Given the description of an element on the screen output the (x, y) to click on. 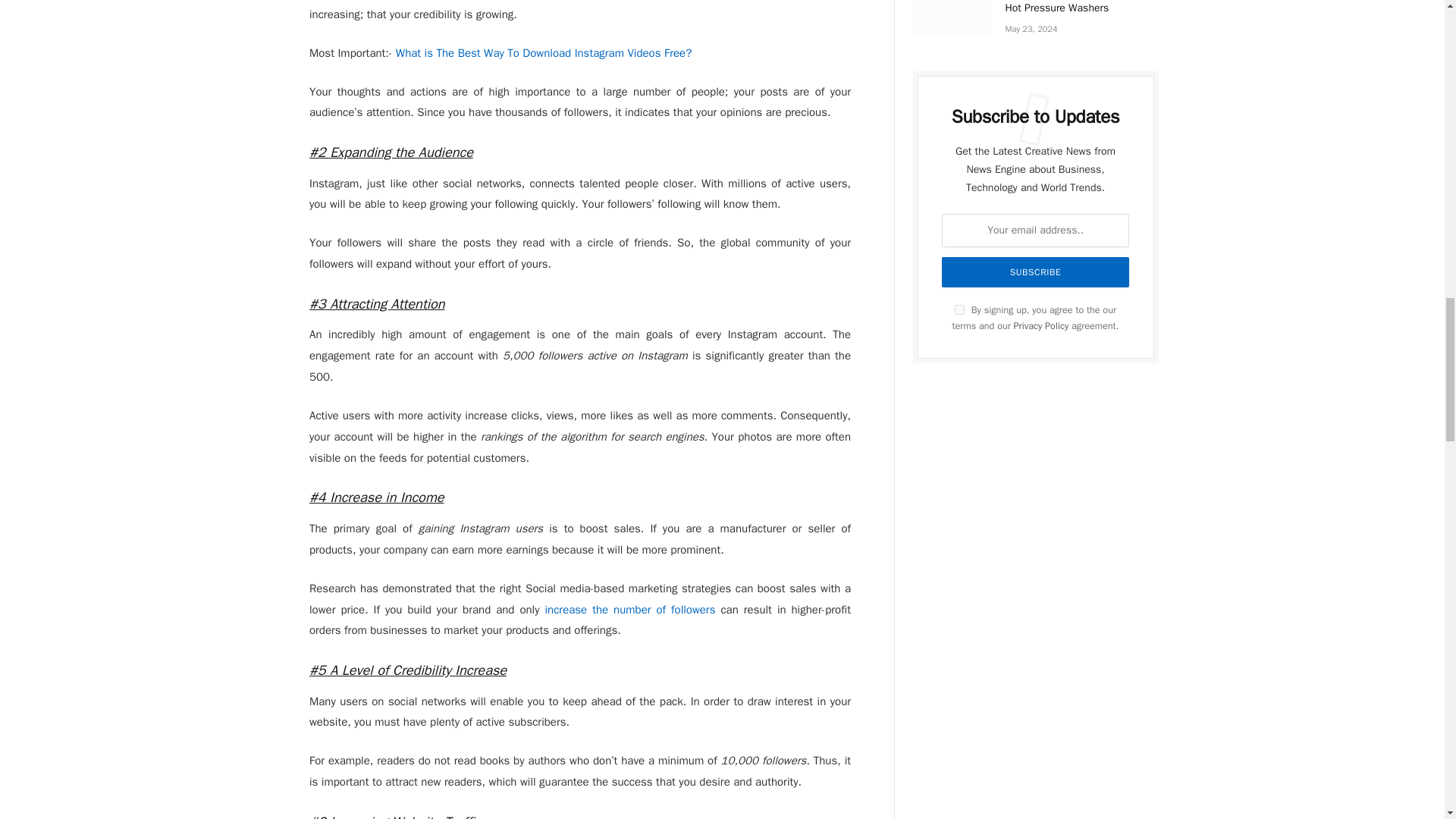
Subscribe (1035, 272)
on (959, 309)
